Given the description of an element on the screen output the (x, y) to click on. 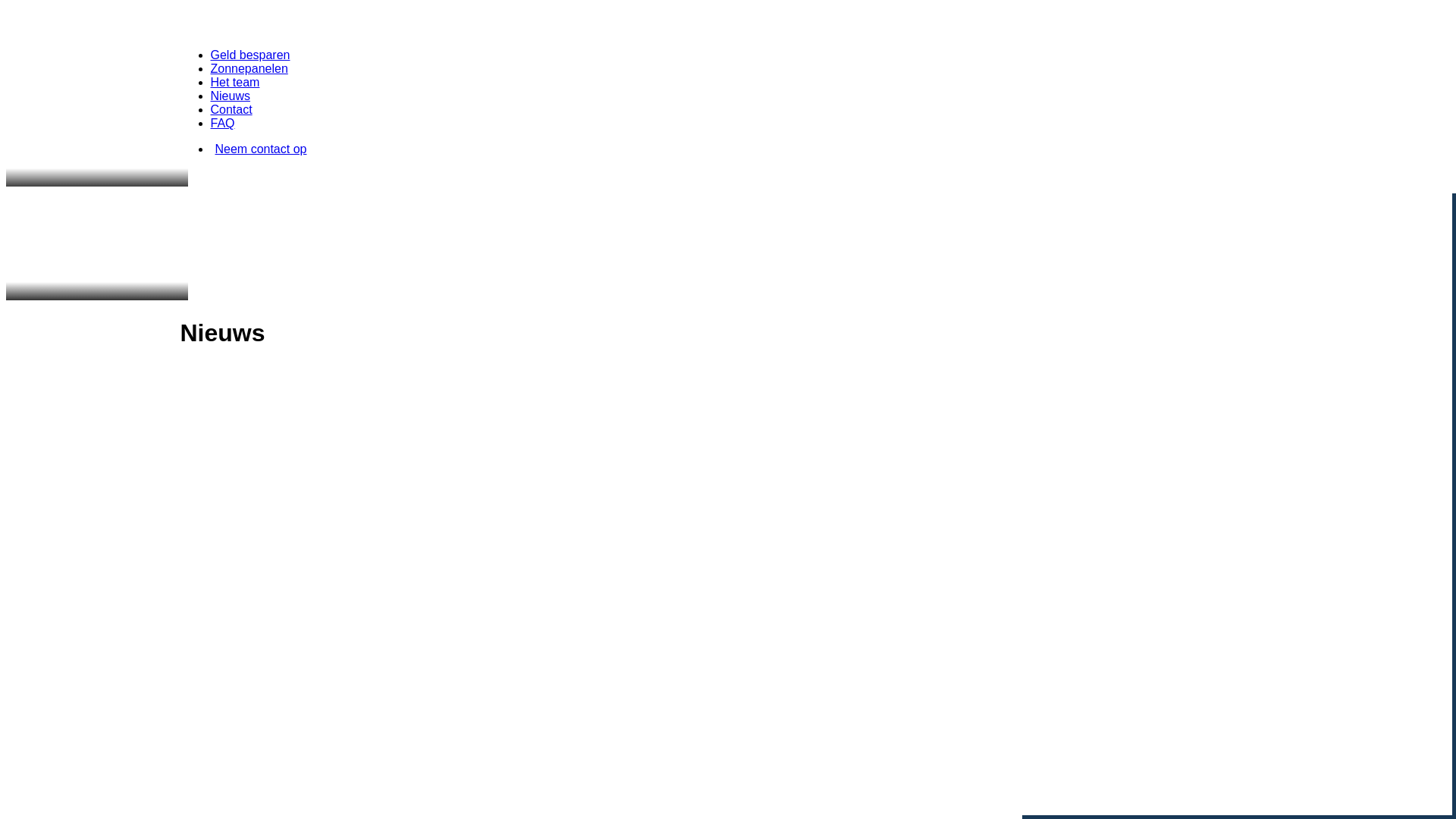
Neem contact op Element type: text (741, 149)
Nieuws Element type: text (230, 95)
FAQ Element type: text (222, 122)
Het team Element type: text (235, 81)
Zonnepanelen Element type: text (249, 68)
Contact Element type: text (231, 109)
Geld besparen Element type: text (250, 54)
